Given the description of an element on the screen output the (x, y) to click on. 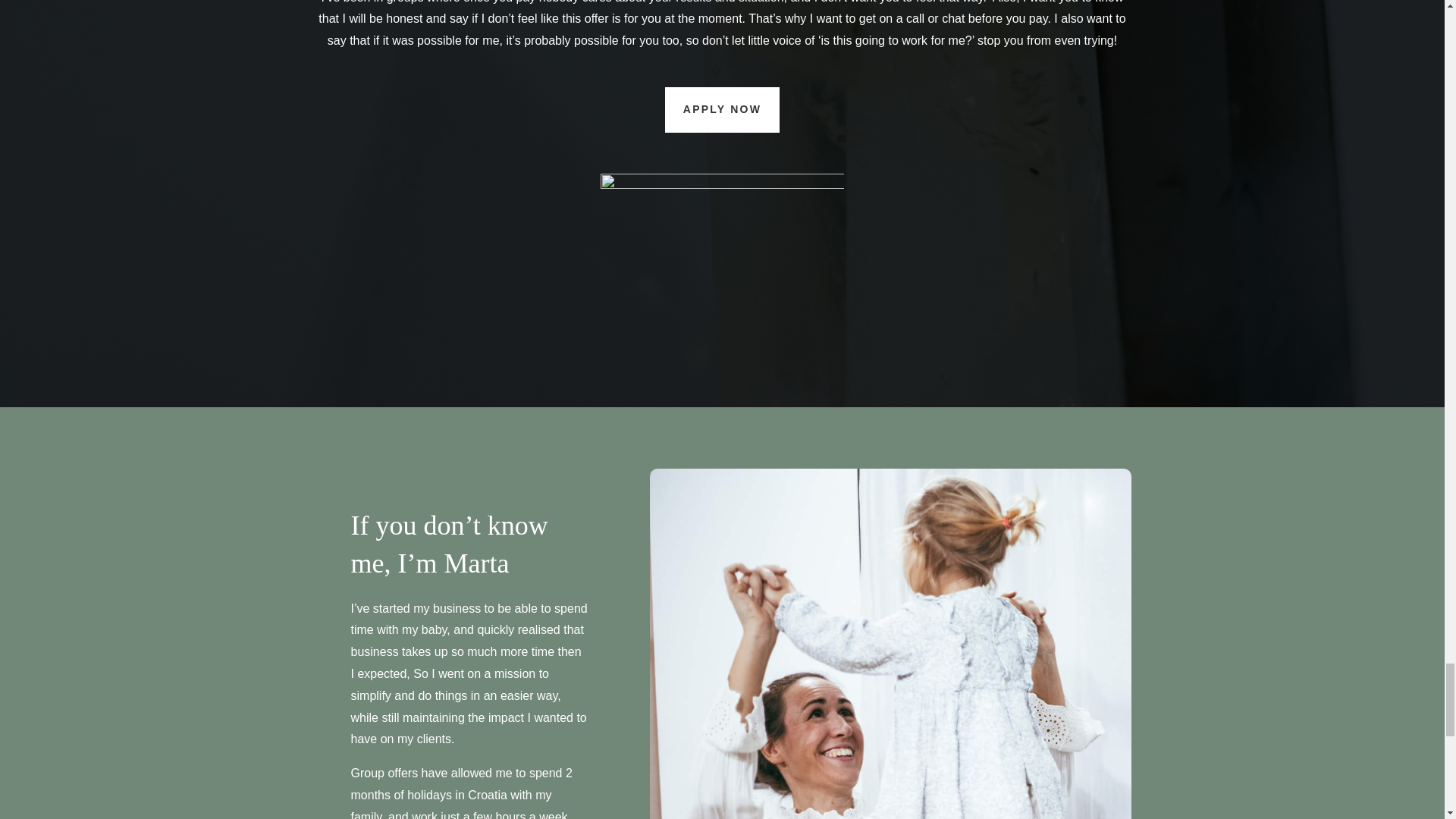
APPLY NOW (721, 109)
